Given the description of an element on the screen output the (x, y) to click on. 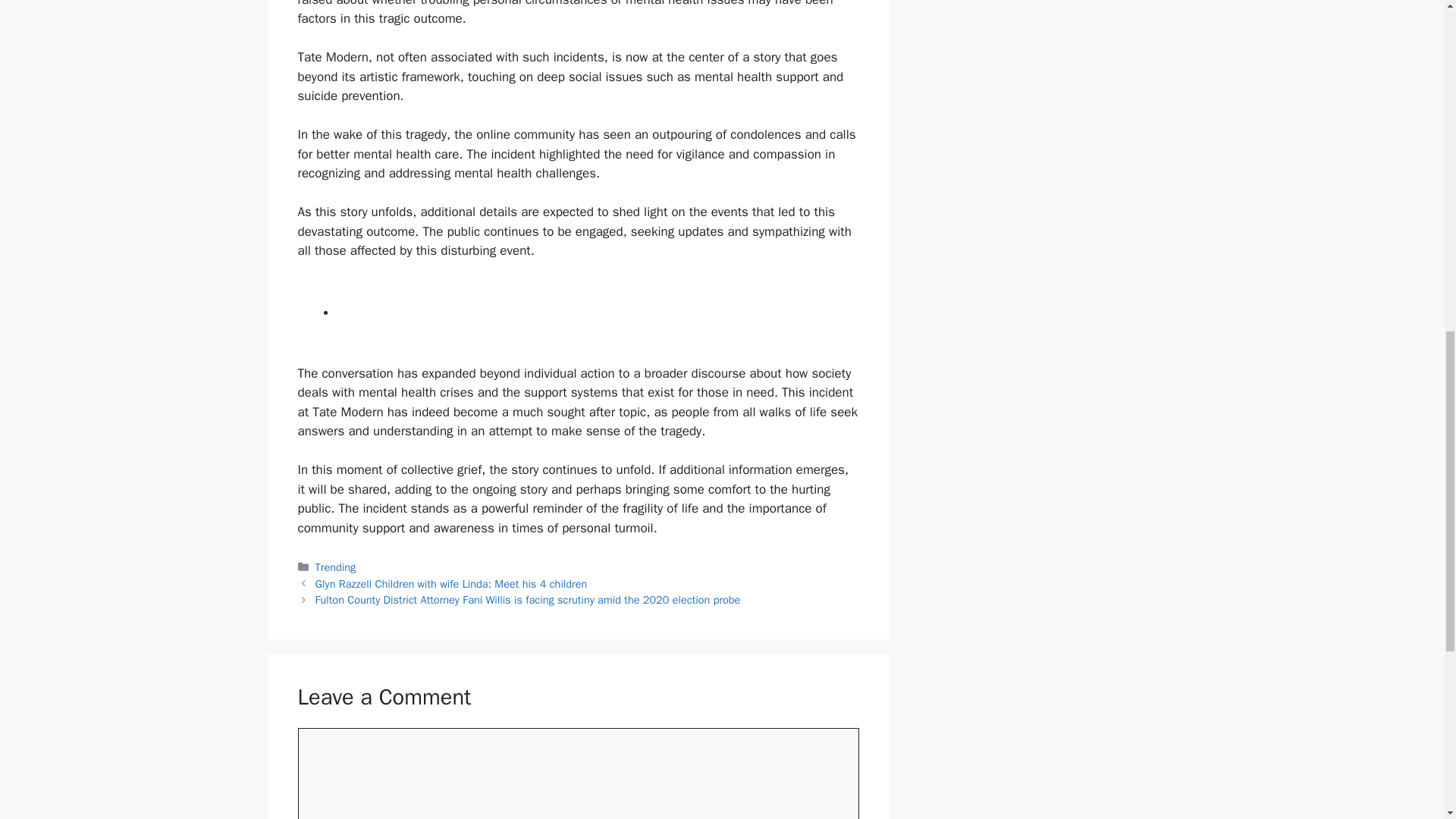
Trending (335, 567)
Glyn Razzell Children with wife Linda: Meet his 4 children (451, 583)
